Given the description of an element on the screen output the (x, y) to click on. 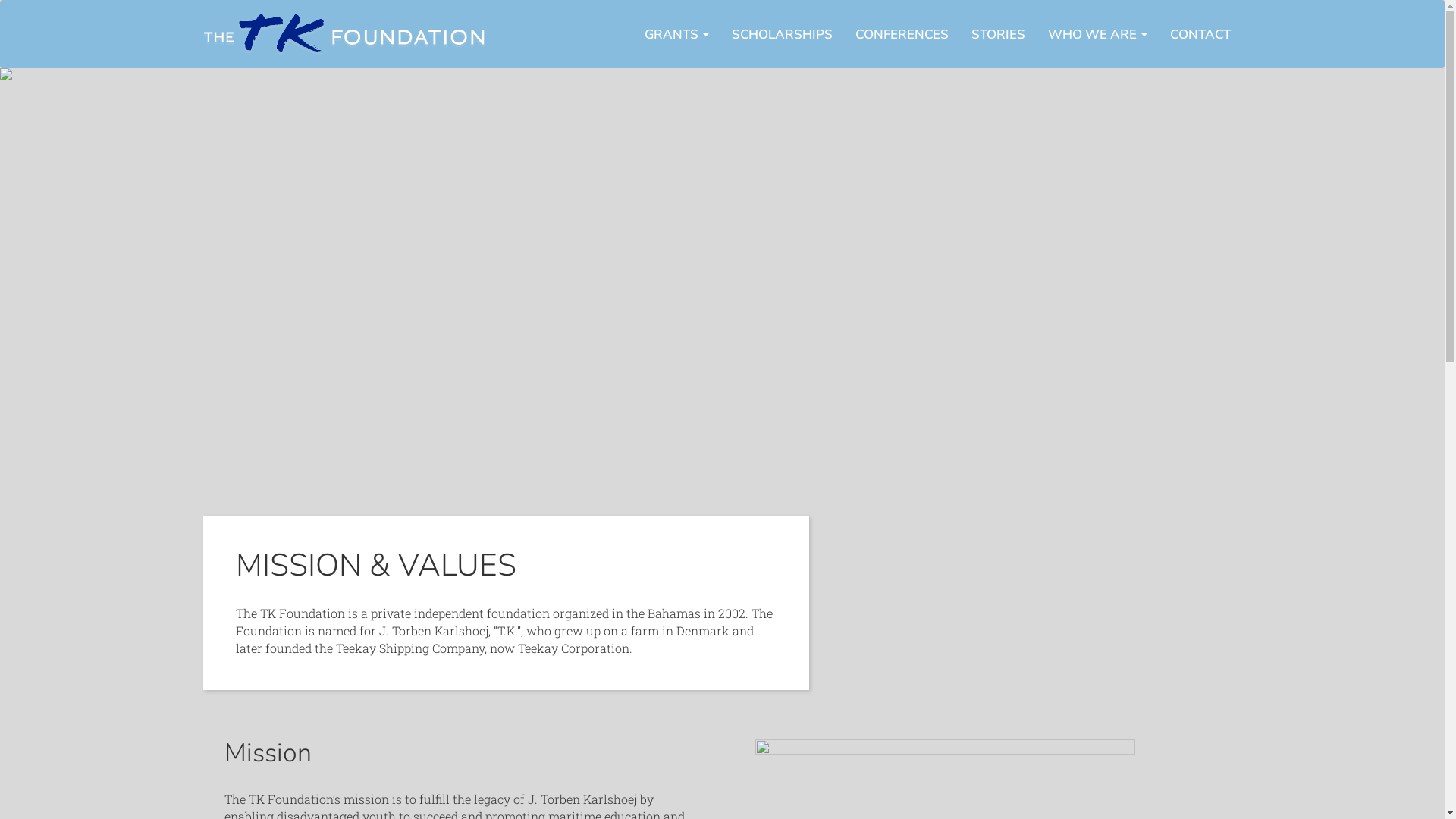
CONTACT Element type: text (1200, 33)
SCHOLARSHIPS Element type: text (782, 33)
CONFERENCES Element type: text (901, 33)
STORIES Element type: text (998, 33)
GRANTS Element type: text (675, 33)
WHO WE ARE Element type: text (1096, 33)
